Given the description of an element on the screen output the (x, y) to click on. 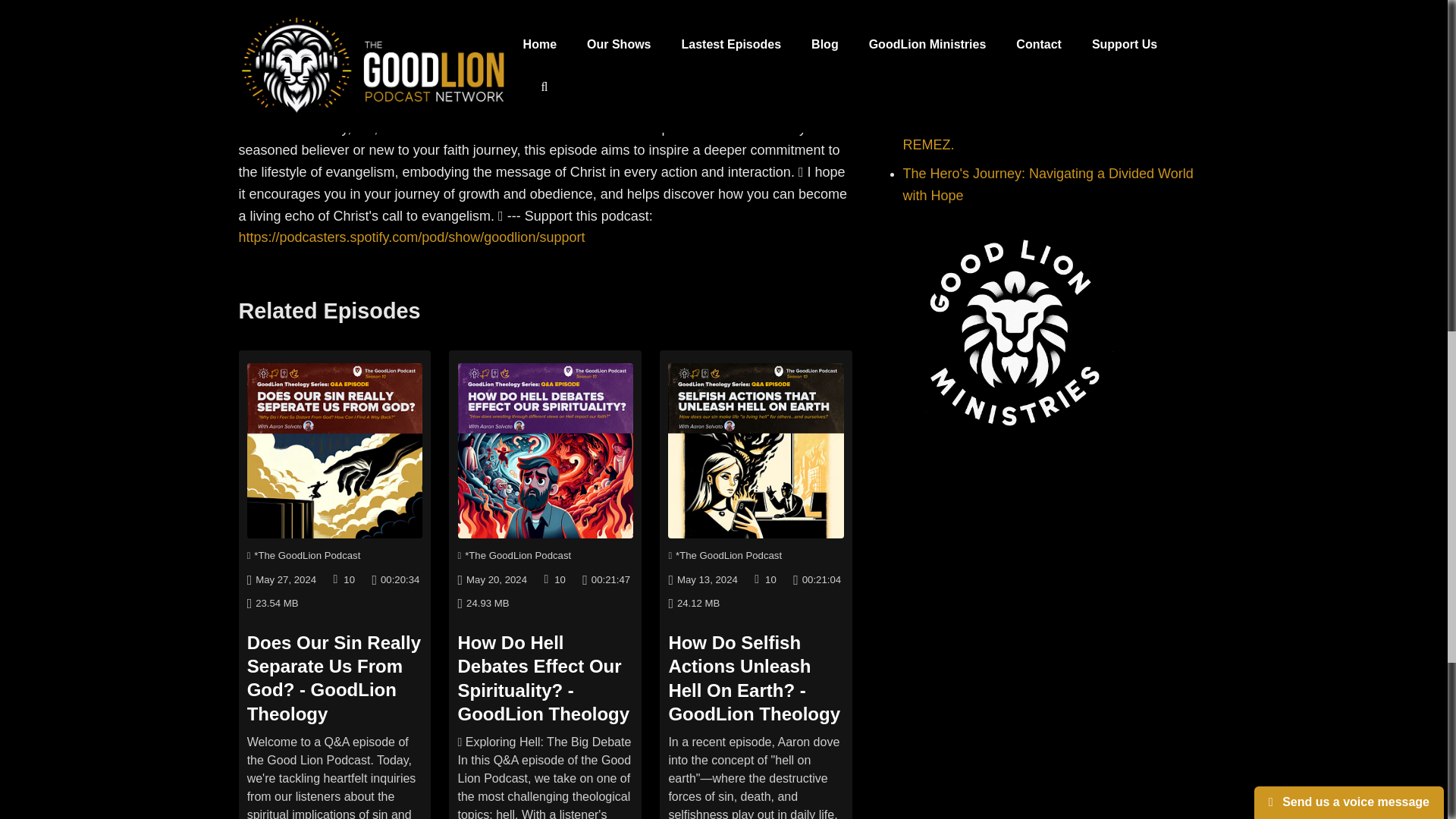
Episode Weight (272, 602)
Podcast (304, 555)
Date (281, 579)
10 (349, 579)
10 (560, 579)
Episode Duration (395, 579)
